Given the description of an element on the screen output the (x, y) to click on. 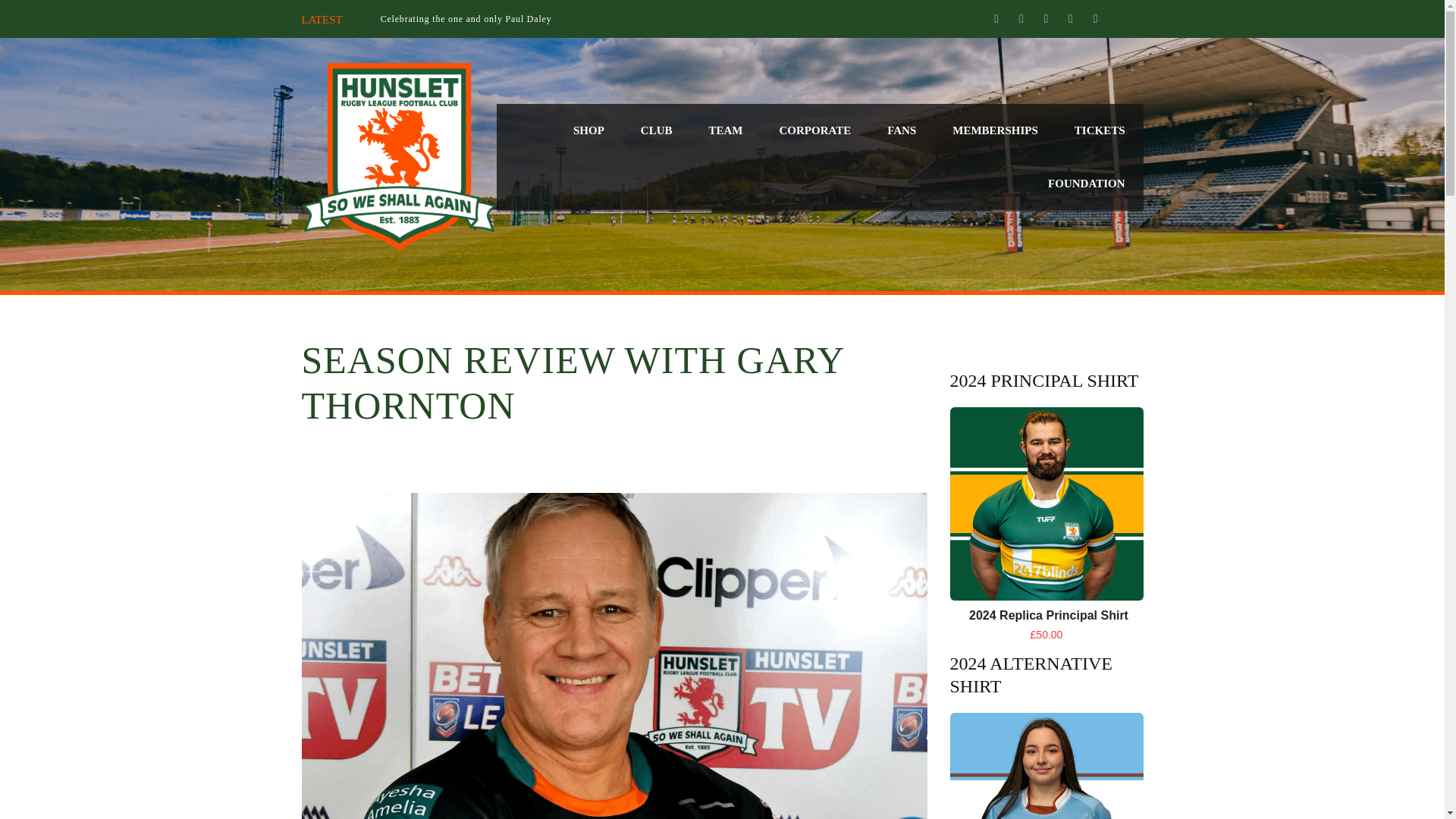
CLUB (656, 130)
Home (399, 156)
Submit (1094, 625)
Celebrating the one and only Paul Daley (465, 18)
CORPORATE (814, 130)
TEAM (725, 130)
SHOP (588, 130)
